Given the description of an element on the screen output the (x, y) to click on. 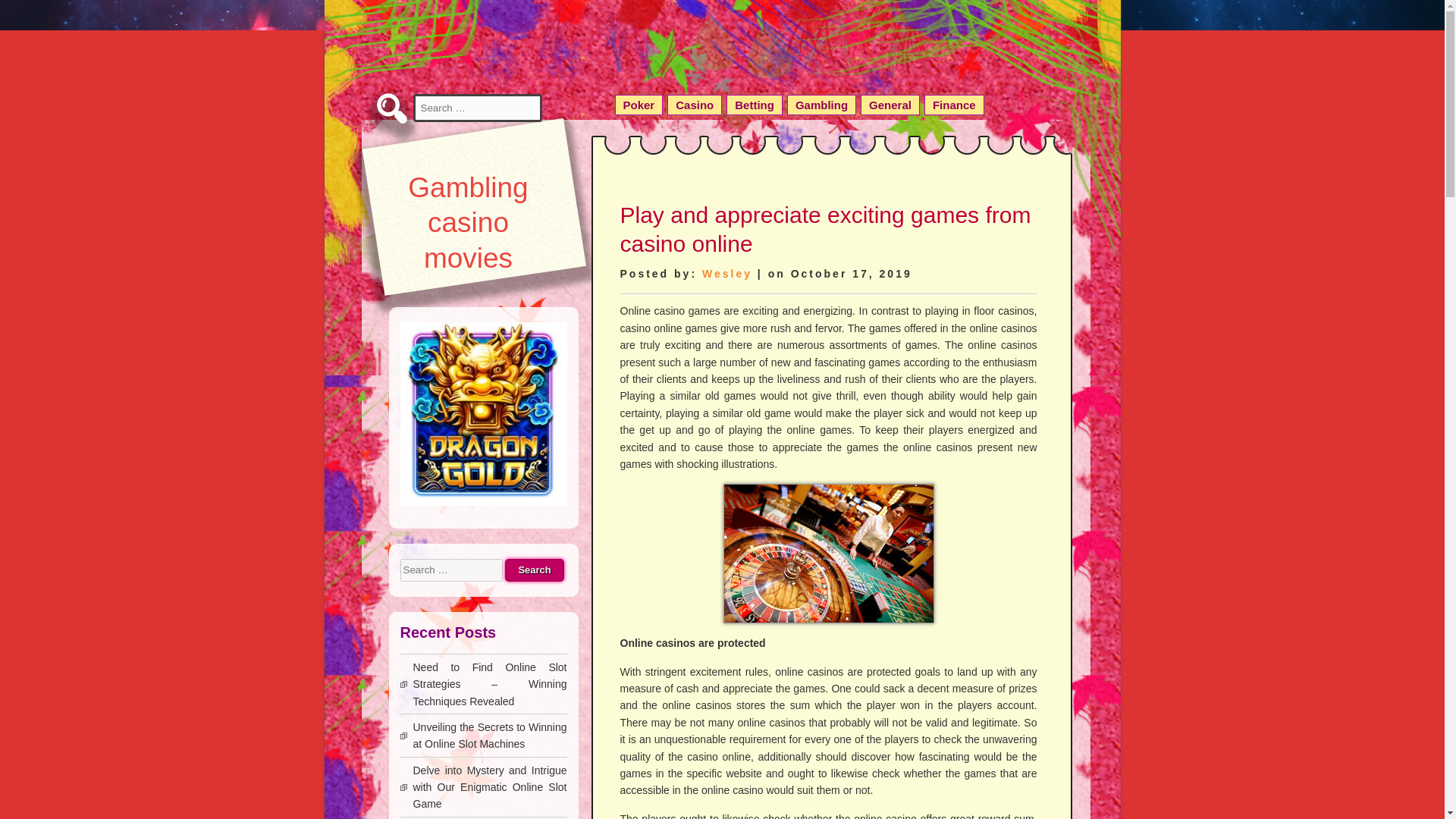
Gambling (821, 105)
Poker (638, 105)
Posts by Wesley (726, 273)
General (890, 105)
Search (534, 569)
Casino (694, 105)
Search (534, 569)
Finance (954, 105)
Search (29, 11)
